Given the description of an element on the screen output the (x, y) to click on. 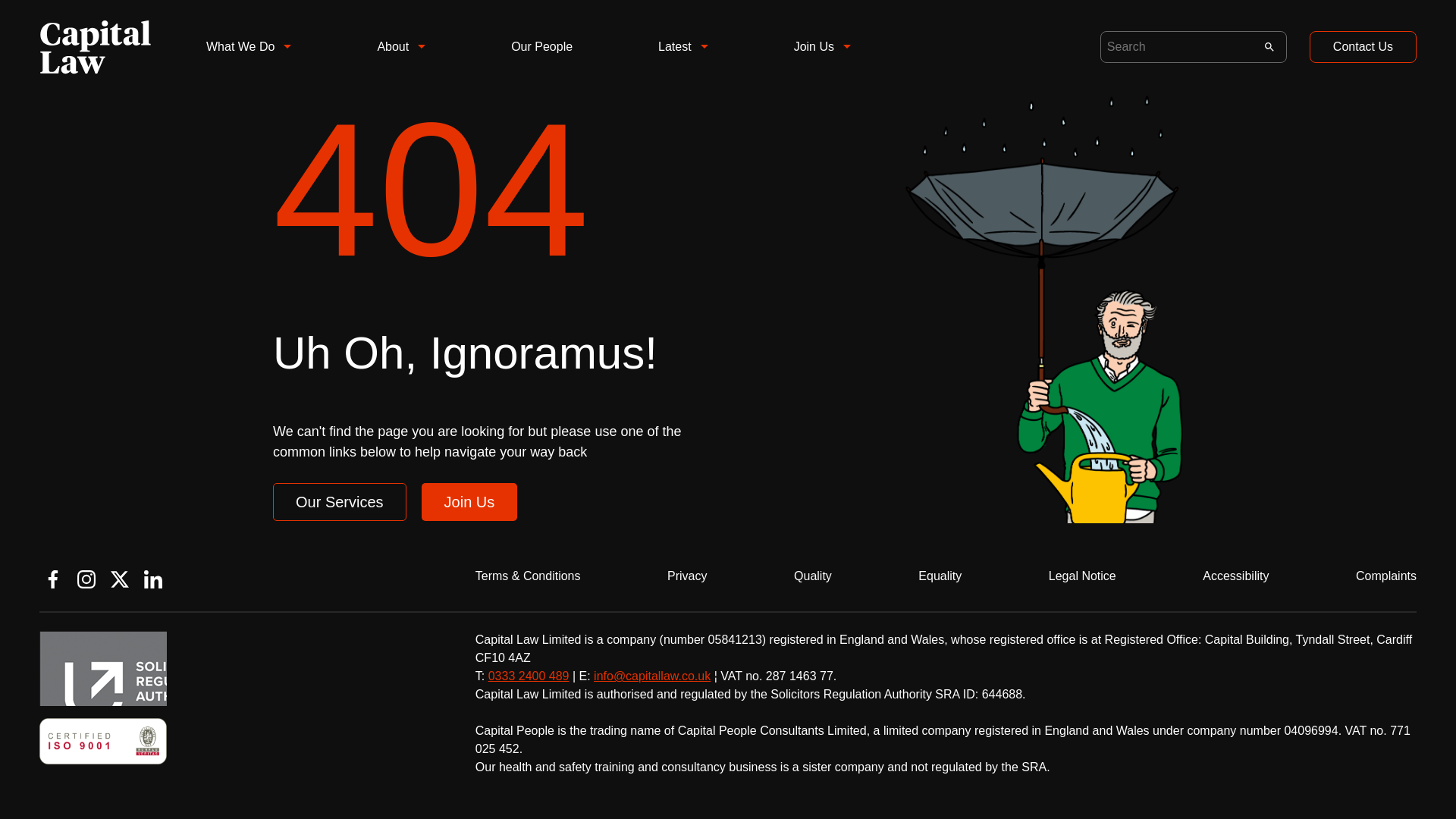
Search (1268, 46)
What We Do (248, 55)
Contact Us (1362, 46)
SRA Digital Badge (103, 667)
